Given the description of an element on the screen output the (x, y) to click on. 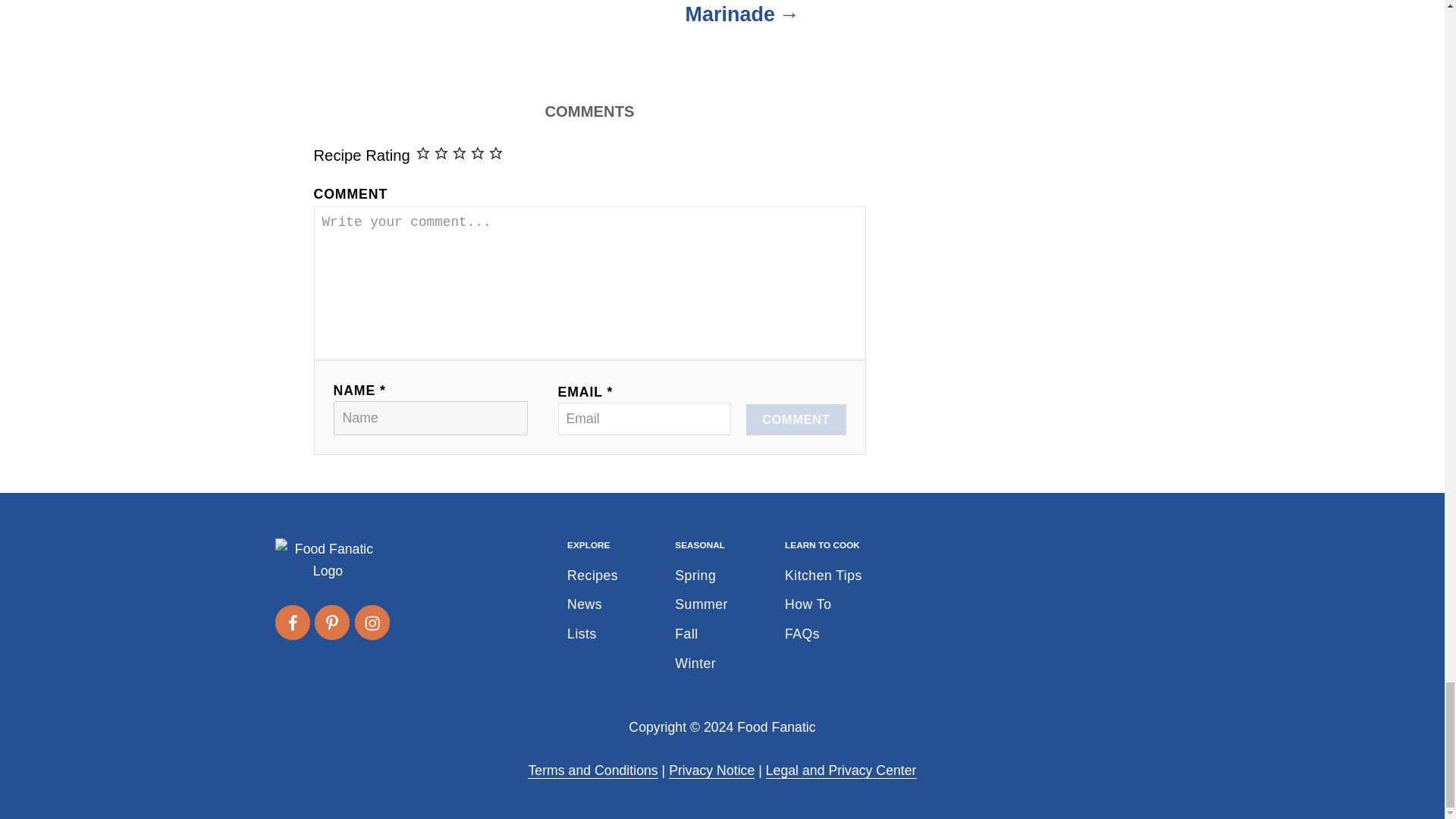
Follow on Facebook (291, 622)
Follow on Instagram (372, 622)
Follow on Pinterest (331, 622)
